Given the description of an element on the screen output the (x, y) to click on. 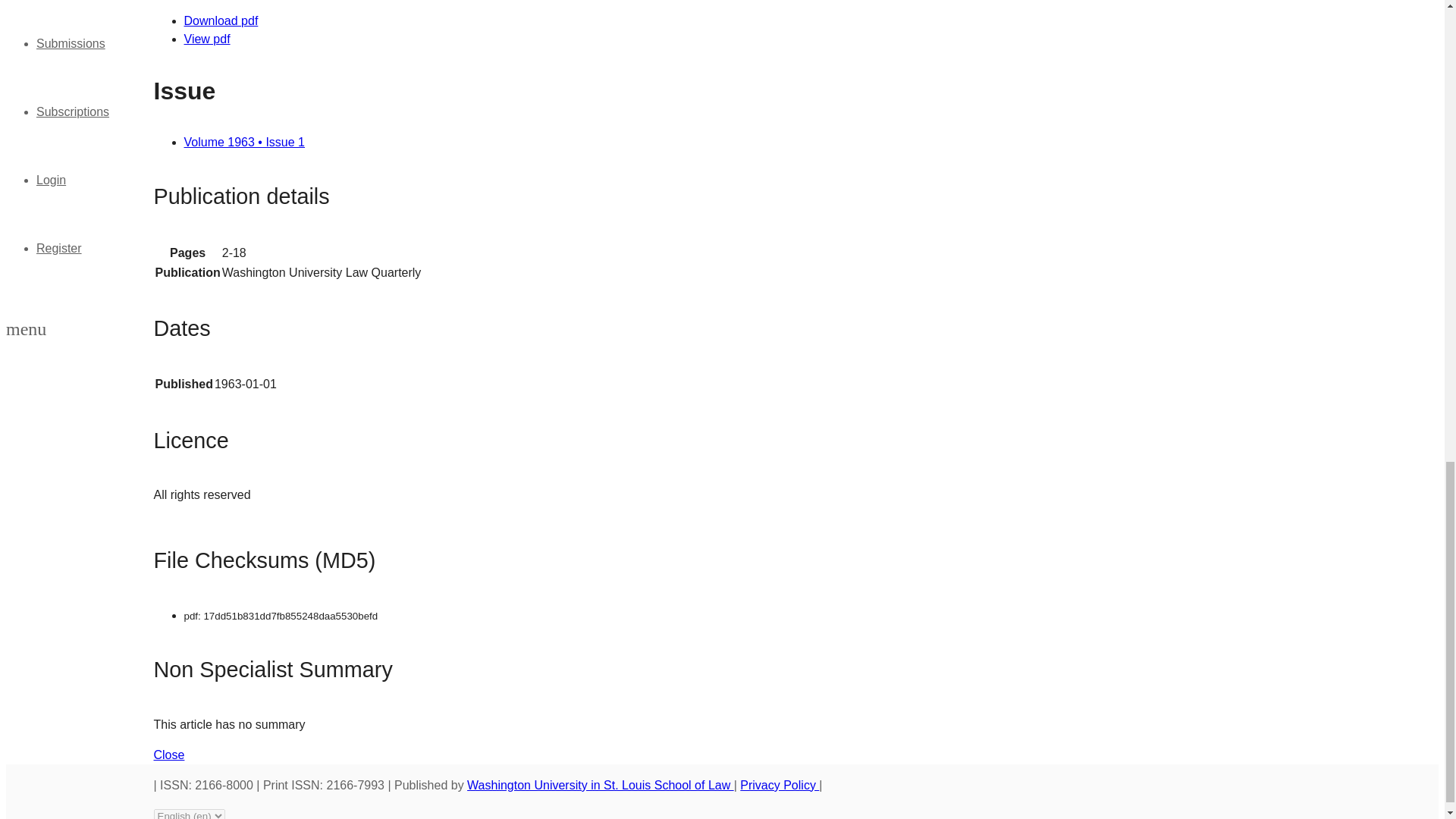
Register (58, 247)
Submissions (70, 42)
Subscriptions (72, 111)
menu (25, 330)
Privacy Policy (778, 784)
View pdf (206, 38)
Login (50, 179)
Download pdf (220, 20)
Close (168, 754)
Washington University in St. Louis School of Law (600, 784)
